Given the description of an element on the screen output the (x, y) to click on. 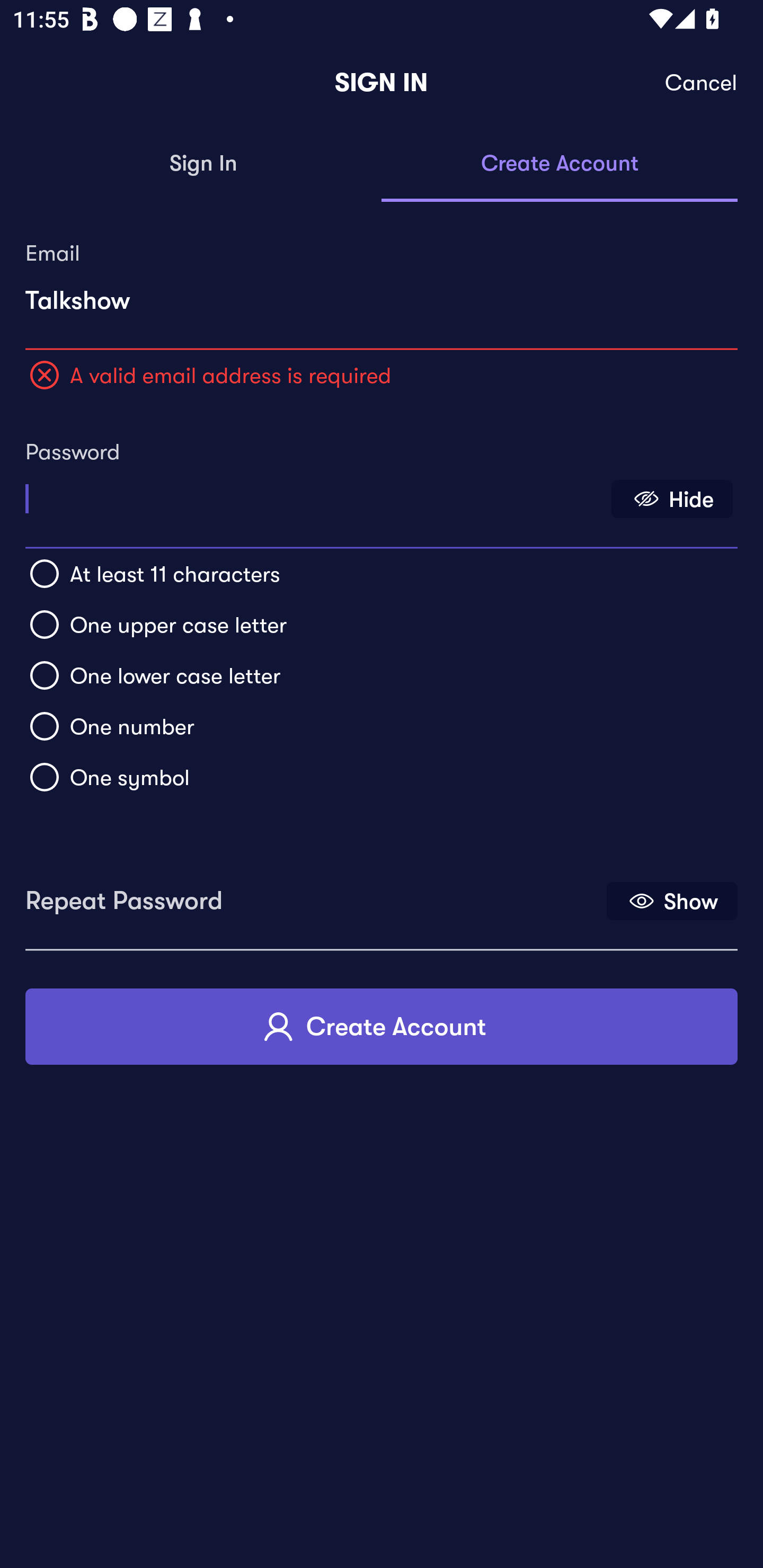
Cancel (701, 82)
Sign In (203, 164)
Create Account (559, 164)
Password (314, 493)
Show Password Hide (671, 498)
Repeat Password (314, 894)
Show Repeat Password Show (671, 900)
Create Account (381, 1025)
